Given the description of an element on the screen output the (x, y) to click on. 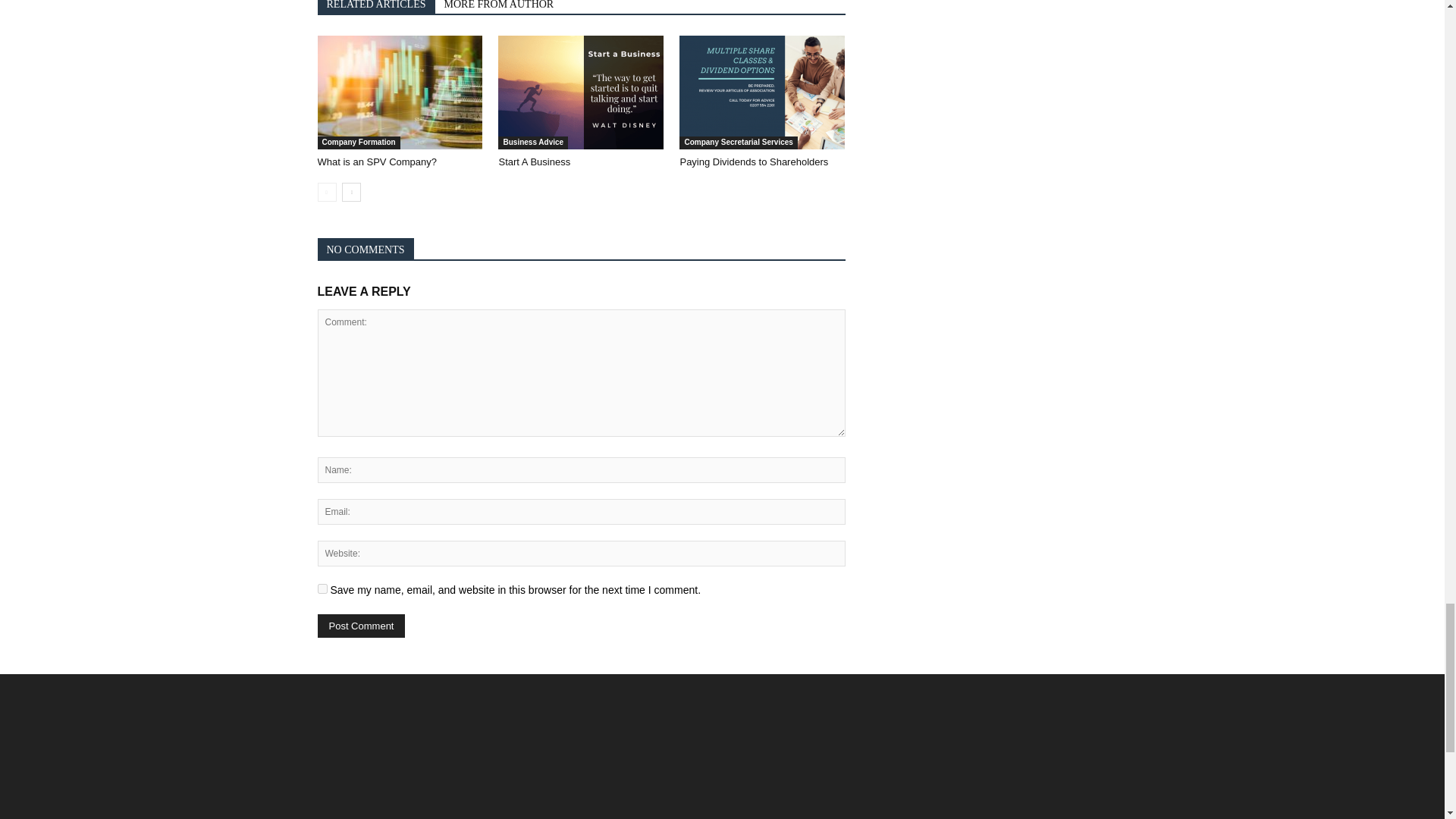
yes (321, 588)
What is an SPV Company? (376, 161)
What is an SPV Company? (399, 92)
Paying Dividends to Shareholders (761, 92)
Start A Business (533, 161)
Post Comment (360, 626)
Paying Dividends to Shareholders (753, 161)
Start A Business (580, 92)
